Given the description of an element on the screen output the (x, y) to click on. 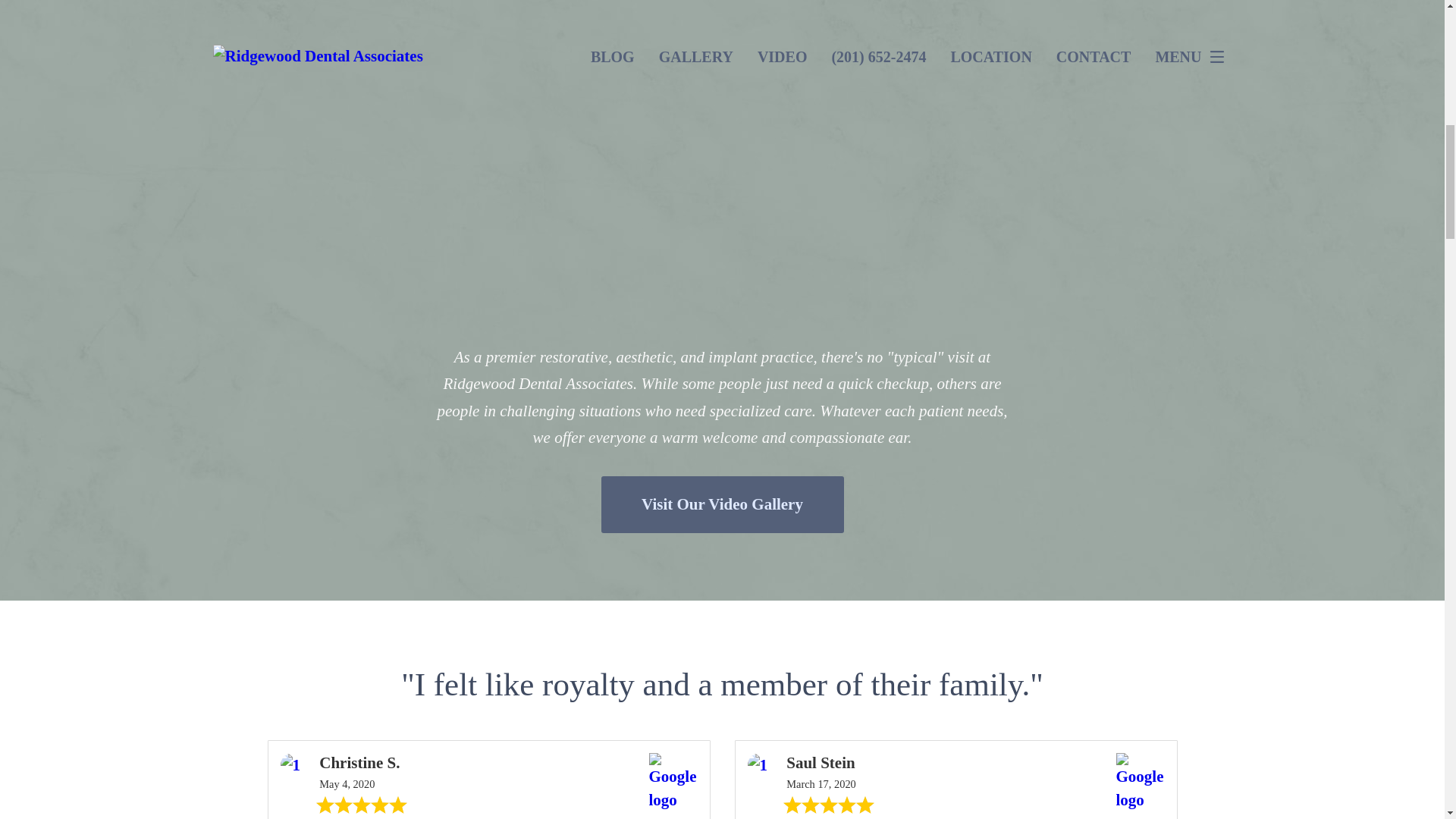
Visit Our Video Gallery (721, 504)
